Given the description of an element on the screen output the (x, y) to click on. 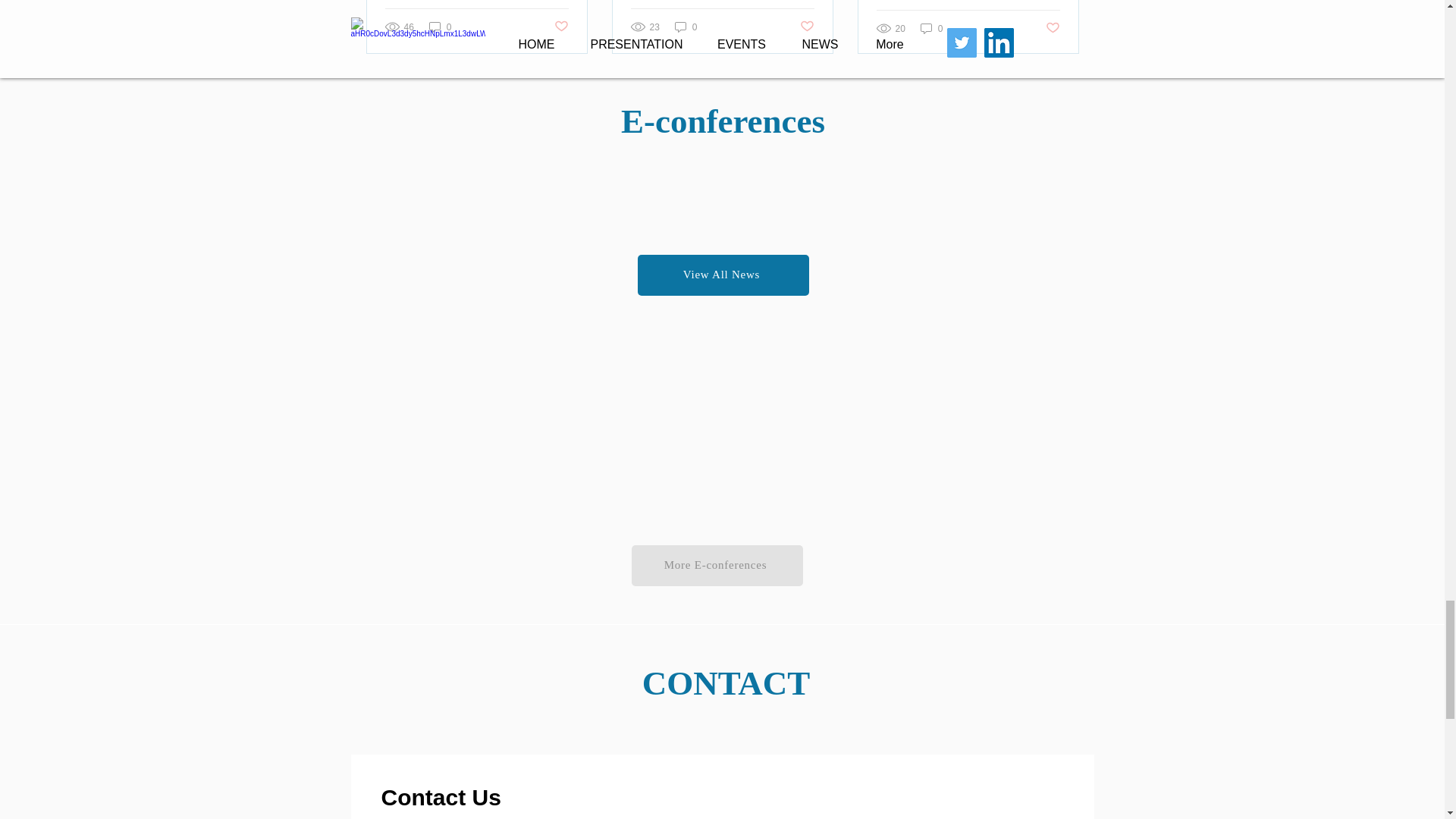
0 (931, 28)
View All News (722, 274)
0 (440, 26)
Post not marked as liked (1052, 28)
Post not marked as liked (806, 26)
0 (685, 26)
Post not marked as liked (560, 26)
More E-conferences (716, 565)
